Given the description of an element on the screen output the (x, y) to click on. 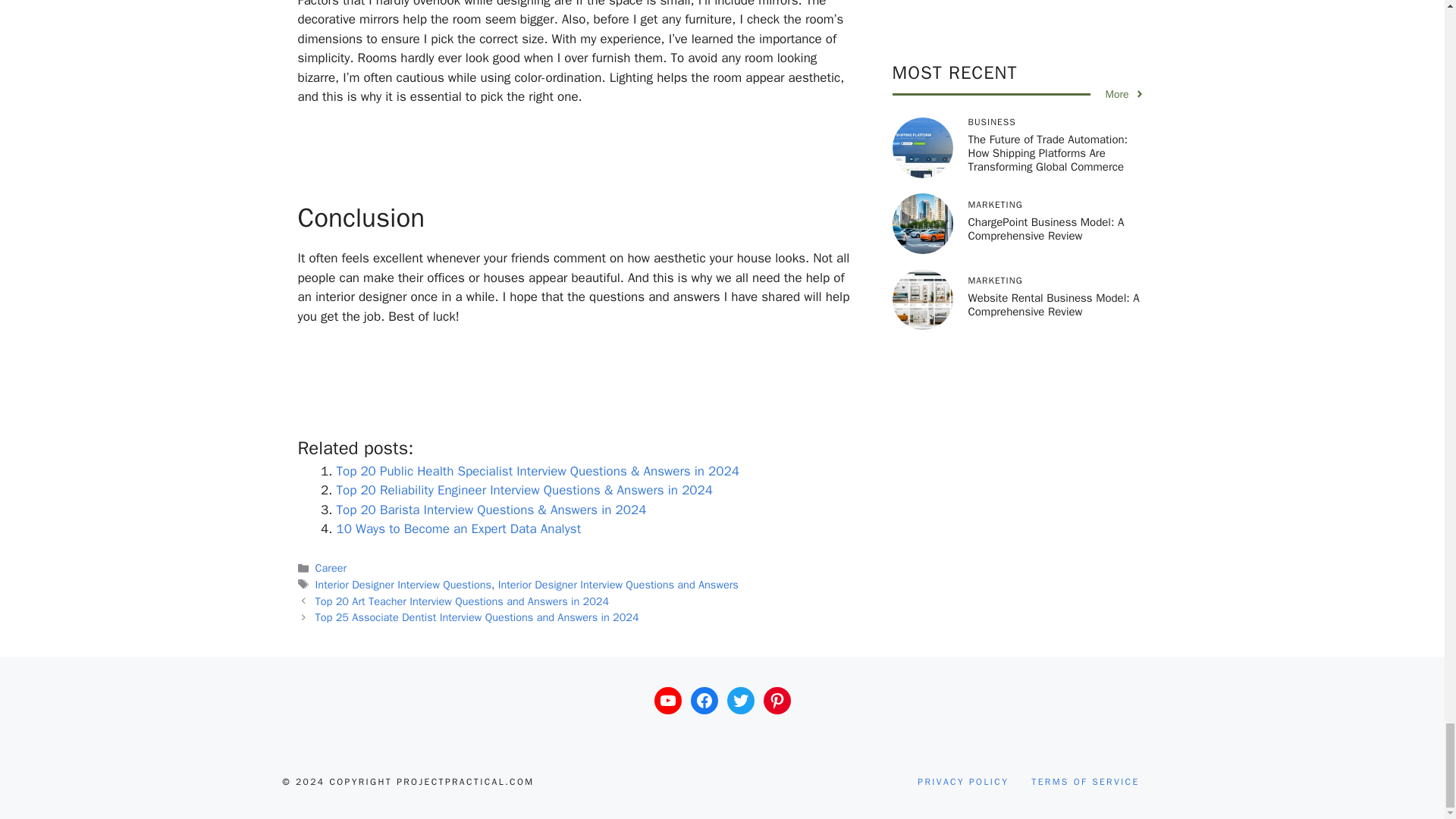
Interior Designer Interview Questions and Answers (617, 584)
Interior Designer Interview Questions (403, 584)
10 Ways to Become an Expert Data Analyst (458, 528)
YouTube (667, 700)
Career (331, 567)
Top 20 Art Teacher Interview Questions and Answers in 2024 (462, 601)
10 Ways to Become an Expert Data Analyst (458, 528)
